Given the description of an element on the screen output the (x, y) to click on. 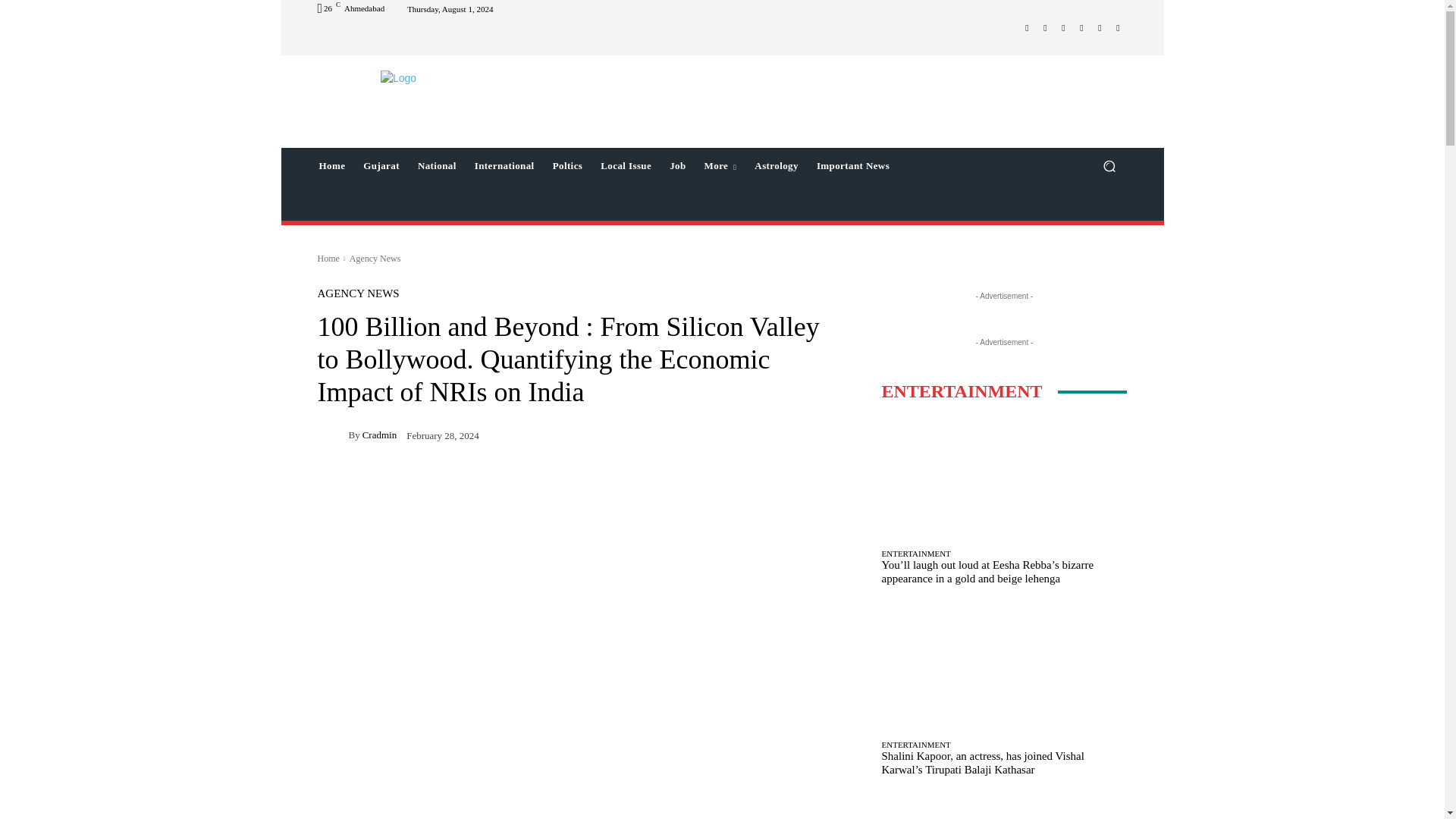
Facebook (1026, 27)
Instagram (1044, 27)
Mail (1062, 27)
Youtube (1117, 27)
WhatsApp (1099, 27)
Twitter (1080, 27)
